Given the description of an element on the screen output the (x, y) to click on. 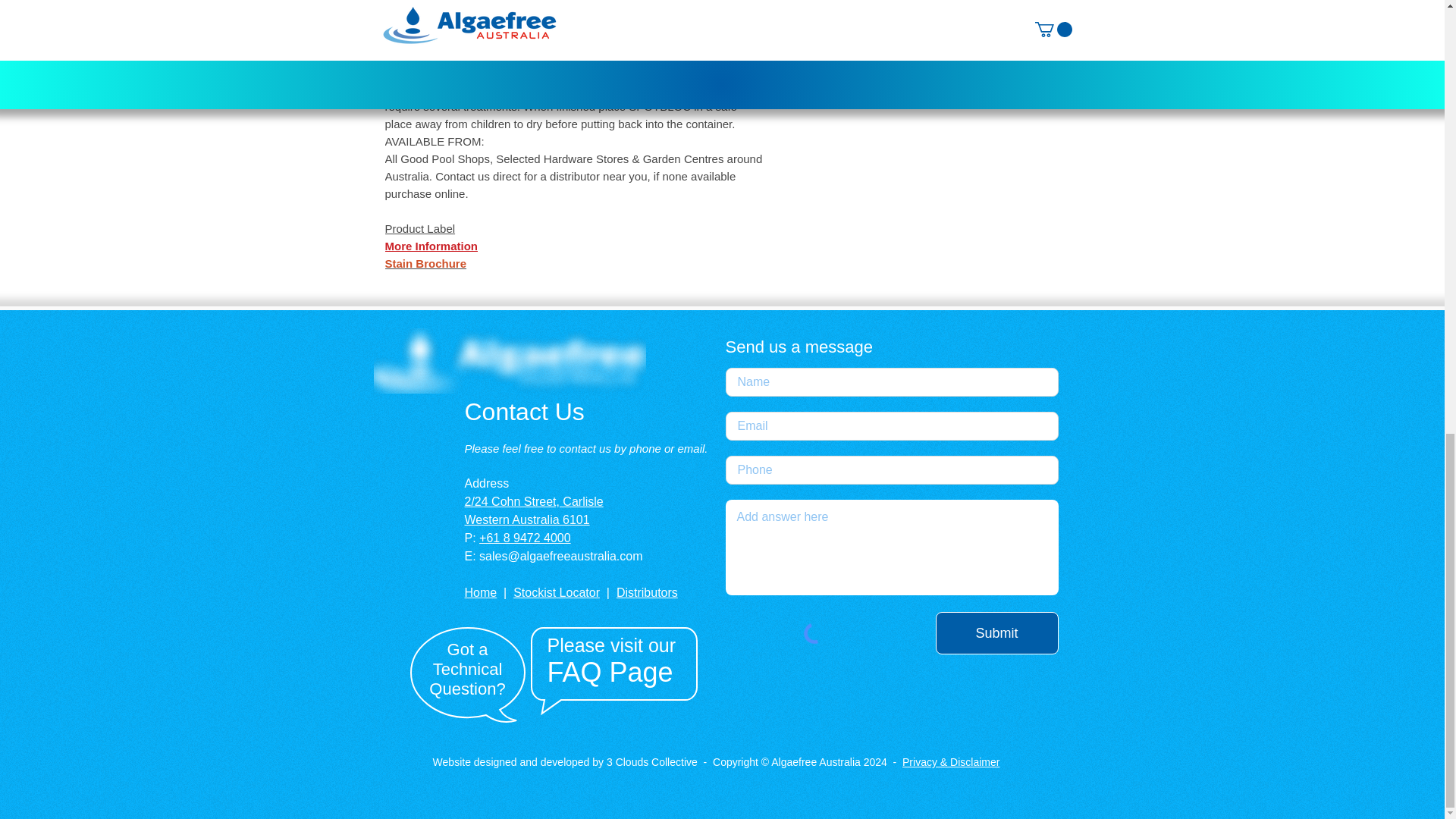
Home (480, 592)
Stockist Locator (556, 592)
More Information (432, 245)
Submit (997, 632)
Distributors (646, 592)
